Given the description of an element on the screen output the (x, y) to click on. 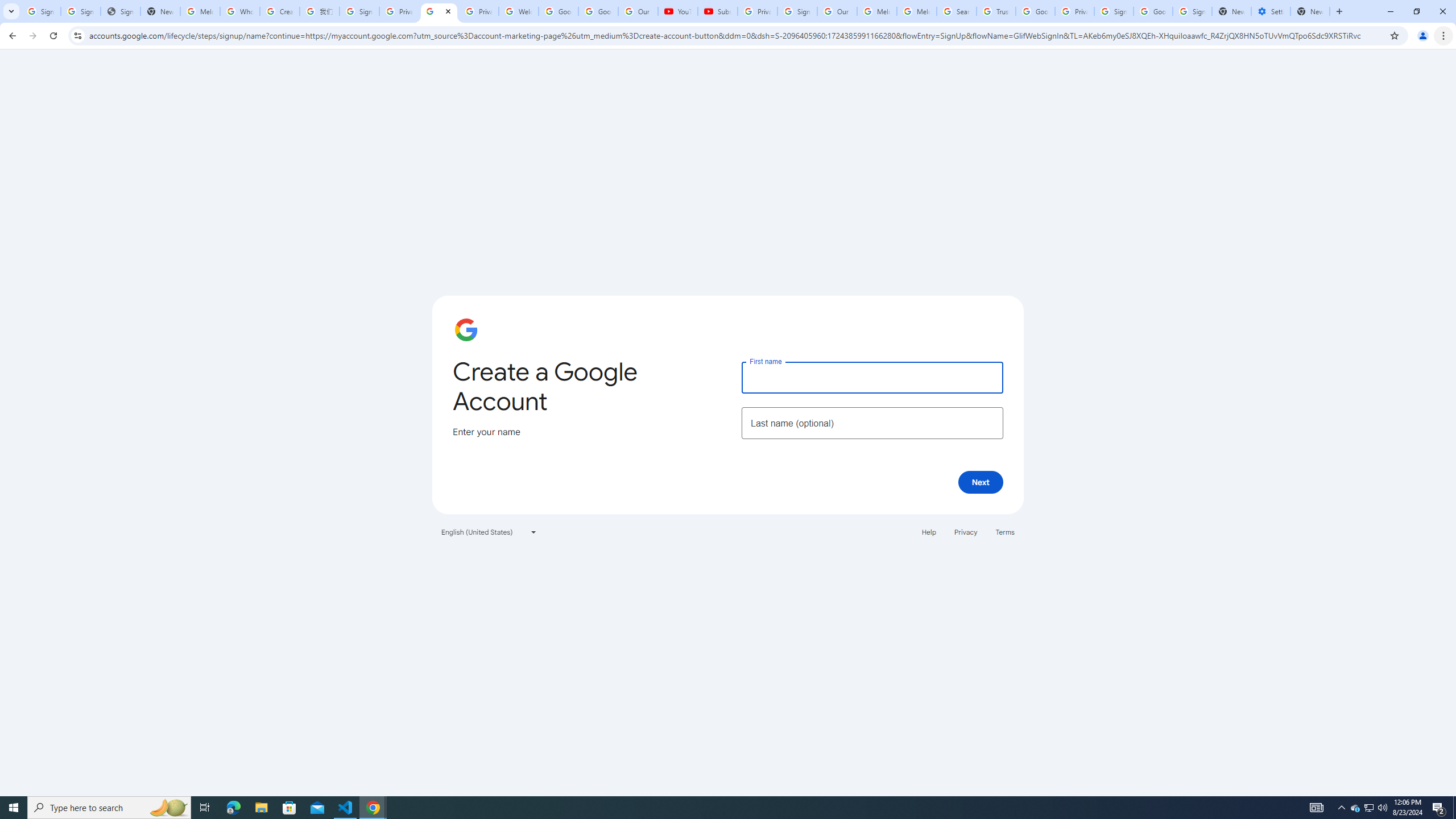
Who is my administrator? - Google Account Help (239, 11)
English (United States) (489, 531)
Sign in - Google Accounts (40, 11)
Sign in - Google Accounts (1192, 11)
Create your Google Account (279, 11)
Sign in - Google Accounts (796, 11)
Last name (optional) (871, 422)
View site information (77, 35)
Google Ads - Sign in (1034, 11)
Google Cybersecurity Innovations - Google Safety Center (1152, 11)
